Given the description of an element on the screen output the (x, y) to click on. 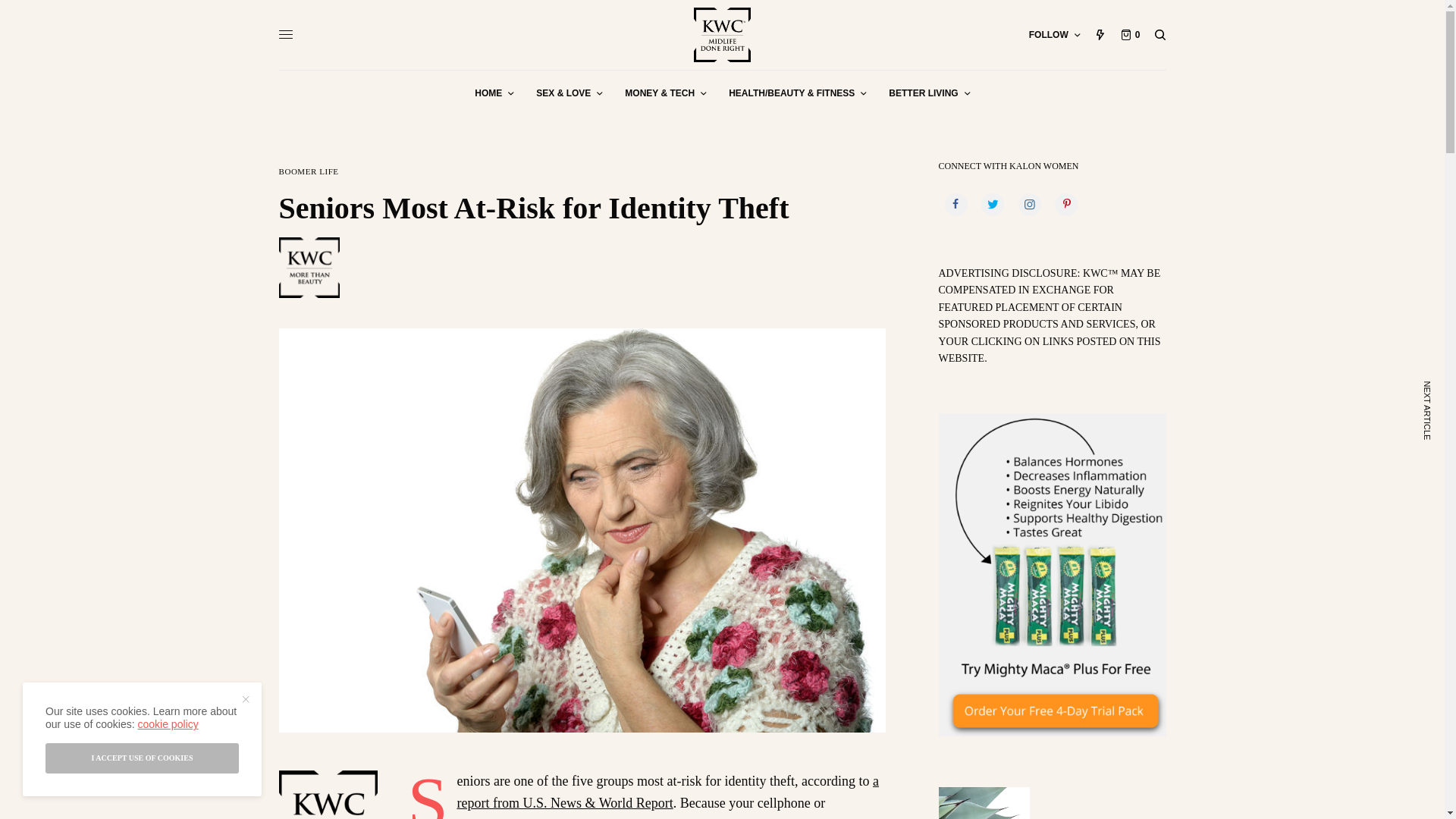
FOLLOW (1054, 34)
HOME (493, 93)
0 (1130, 34)
Kalon Women Collective (721, 34)
